Given the description of an element on the screen output the (x, y) to click on. 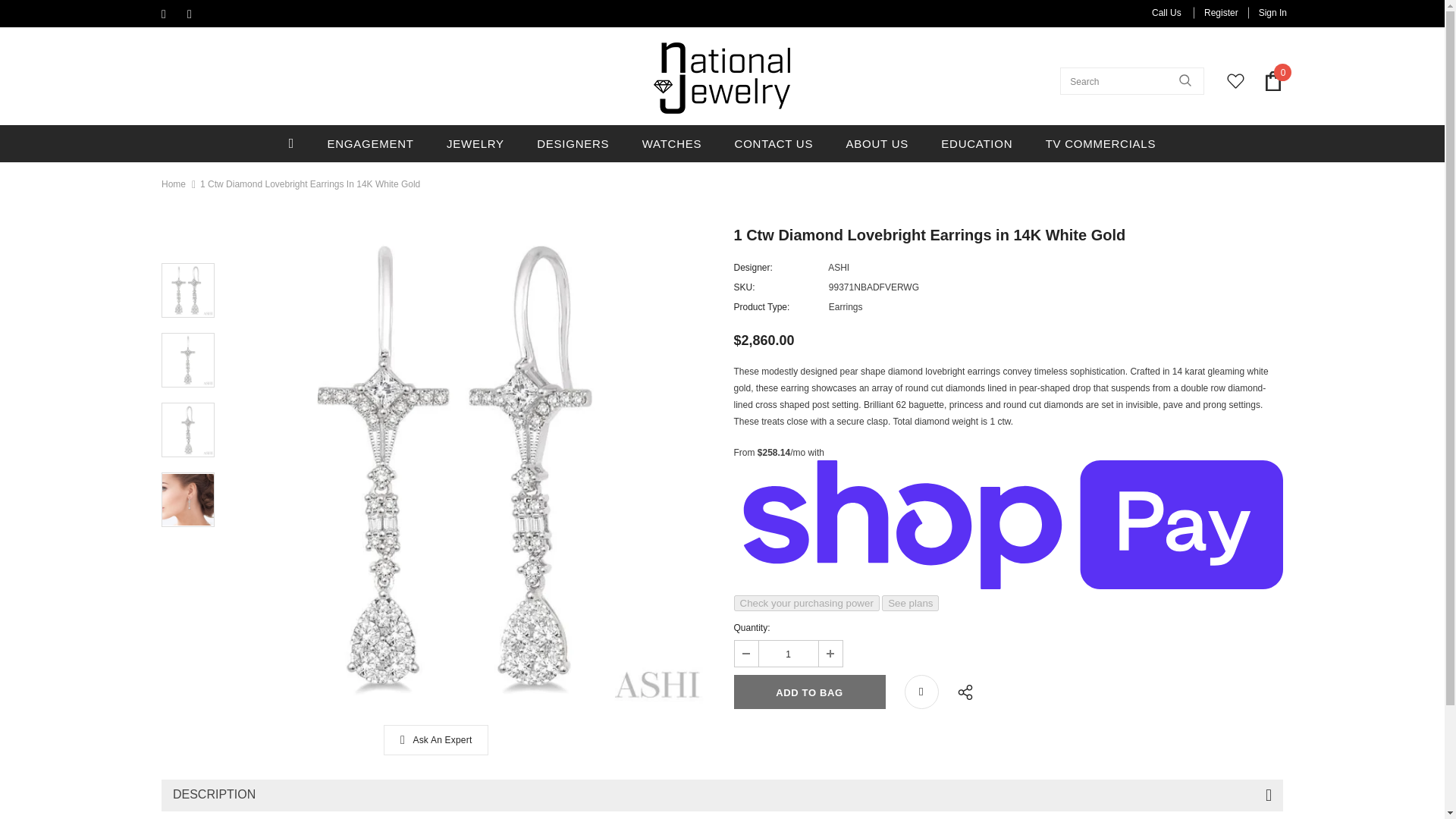
Sign In (1267, 12)
Add to Bag (809, 691)
1 (787, 653)
Register (1221, 12)
